Given the description of an element on the screen output the (x, y) to click on. 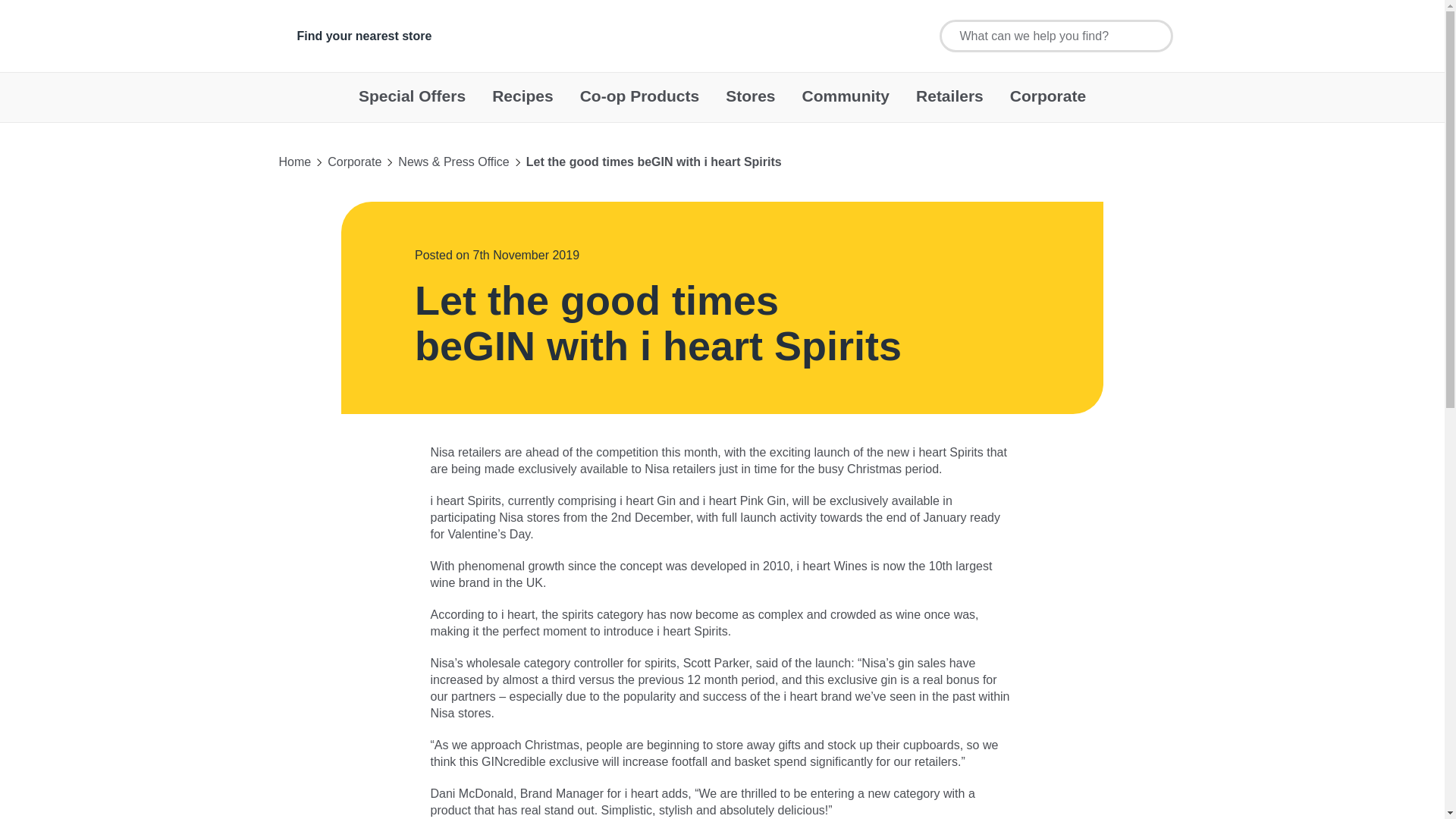
Special Offers (411, 103)
Recipes (522, 103)
Co-op Products (639, 103)
Stores (749, 103)
Find your nearest store (364, 35)
